Given the description of an element on the screen output the (x, y) to click on. 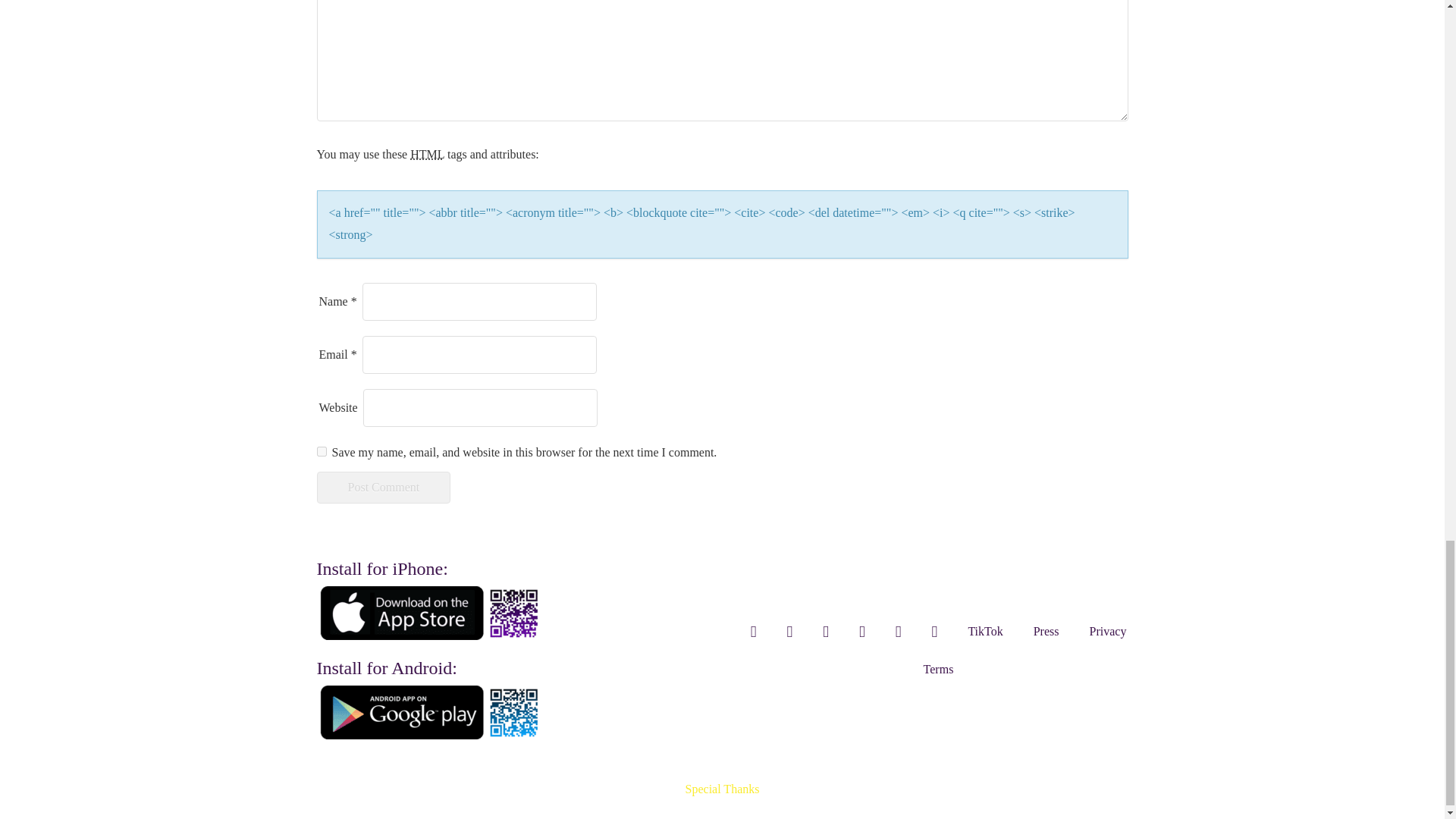
instagram (753, 631)
facebook (826, 631)
yes (321, 451)
HyperText Markup Language (427, 154)
Post Comment (384, 487)
twitter (789, 631)
Post Comment (384, 487)
Install Spinnr here: (430, 612)
YouTube (862, 631)
